Given the description of an element on the screen output the (x, y) to click on. 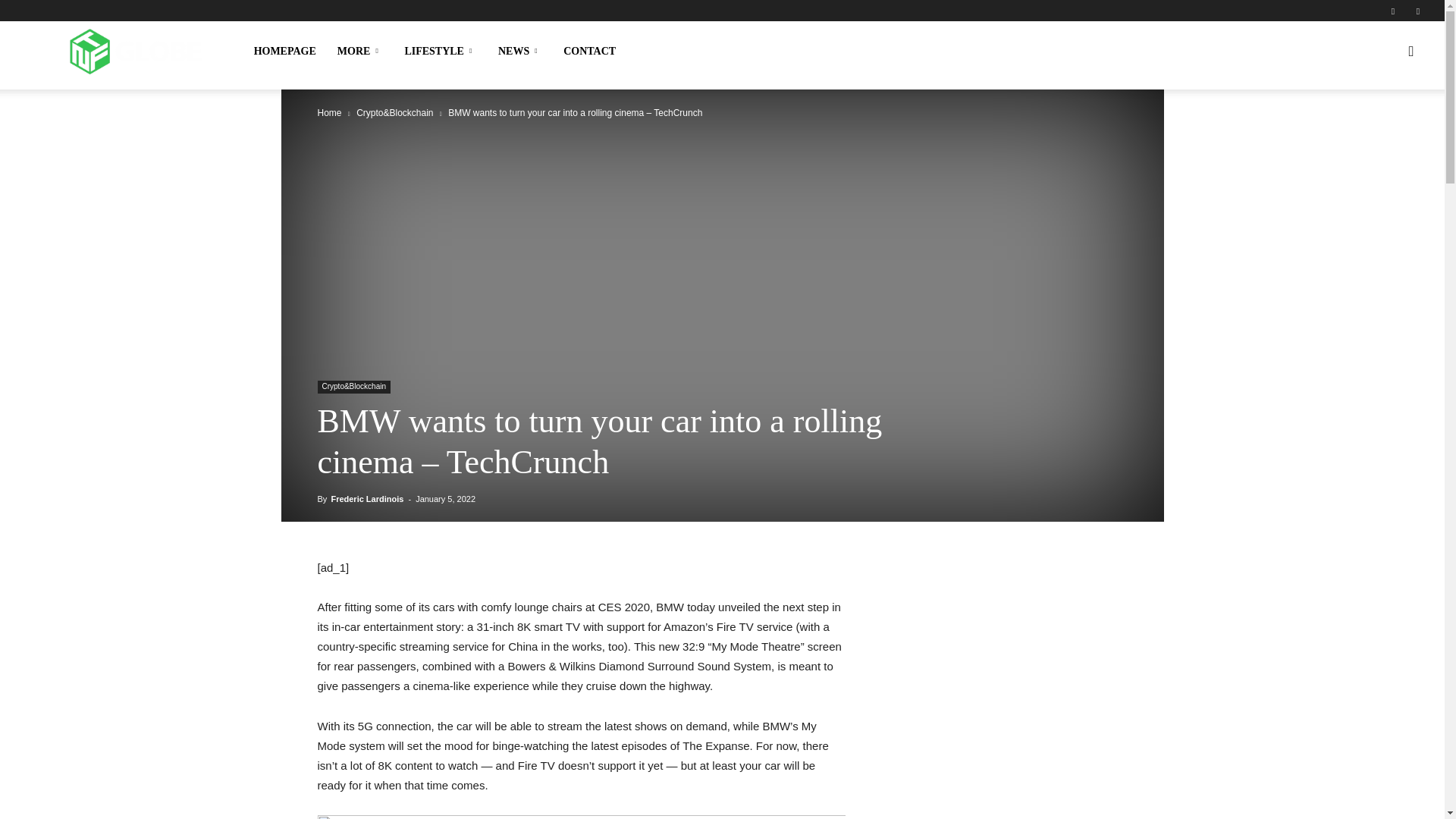
LIFESTYLE (440, 51)
Facebook (1393, 10)
Search (1379, 124)
NEWS (520, 51)
HOMEPAGE (284, 51)
Twitter (1417, 10)
MORE (360, 51)
